Given the description of an element on the screen output the (x, y) to click on. 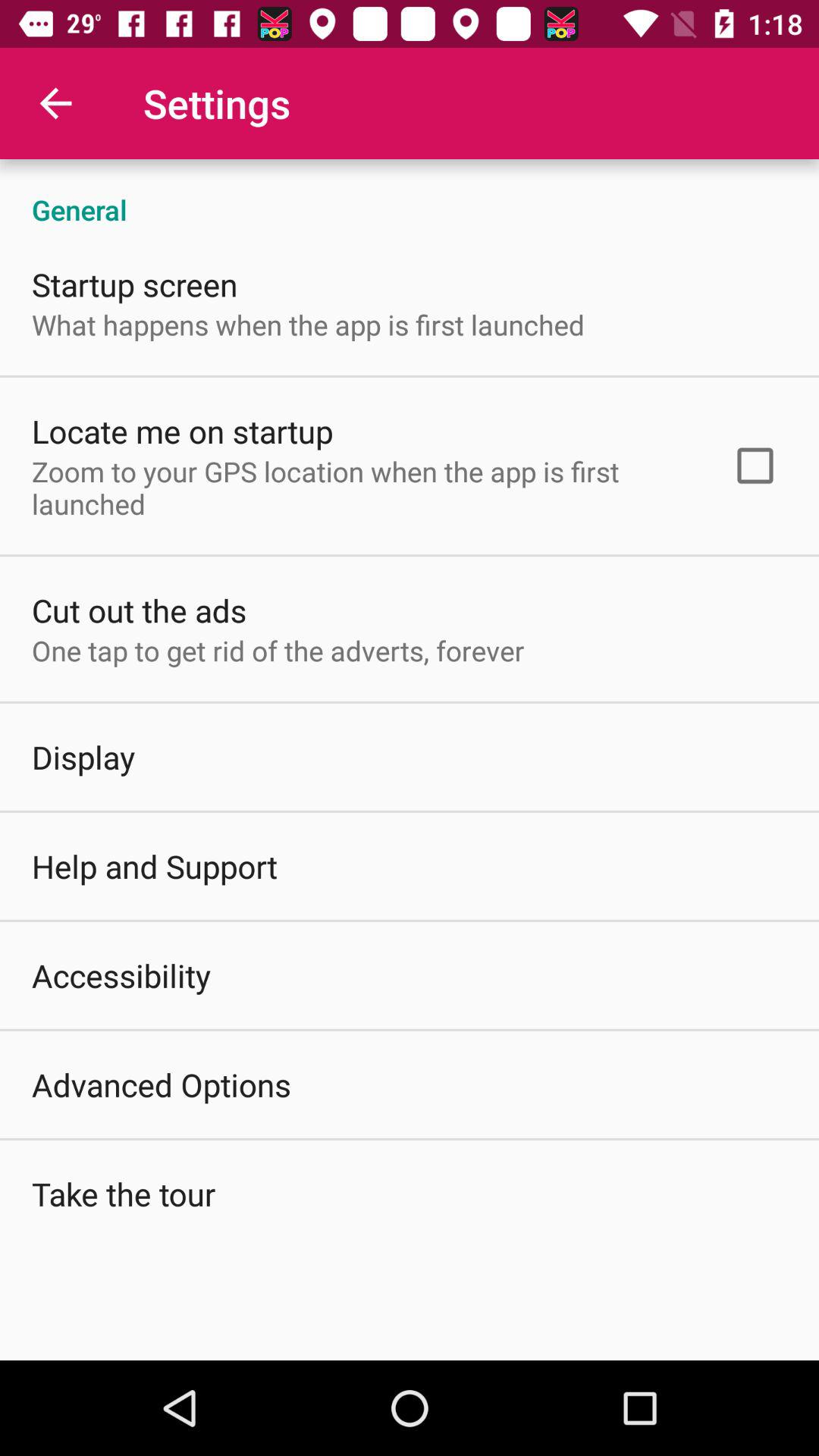
press the advanced options item (161, 1084)
